Given the description of an element on the screen output the (x, y) to click on. 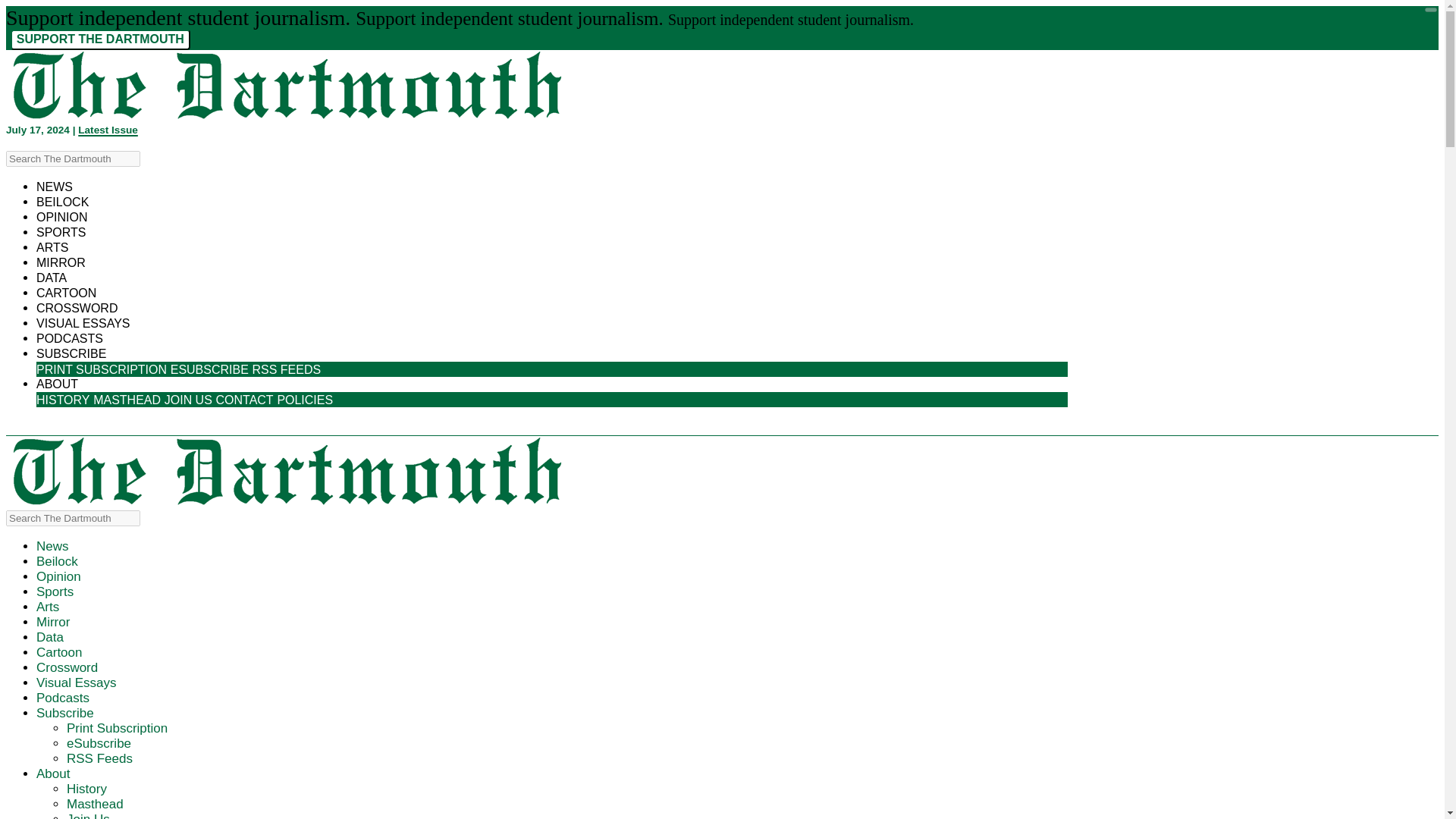
HISTORY (62, 399)
BEILOCK (62, 201)
Opinion (58, 576)
PODCASTS (69, 338)
Arts (47, 606)
SUBSCRIBE (71, 353)
NEWS (54, 186)
Mirror (52, 622)
Beilock (62, 201)
VISUAL ESSAYS (83, 323)
Podcasts (69, 338)
Latest Issue (108, 129)
Mirror (52, 622)
OPINION (61, 216)
Arts (52, 246)
